Given the description of an element on the screen output the (x, y) to click on. 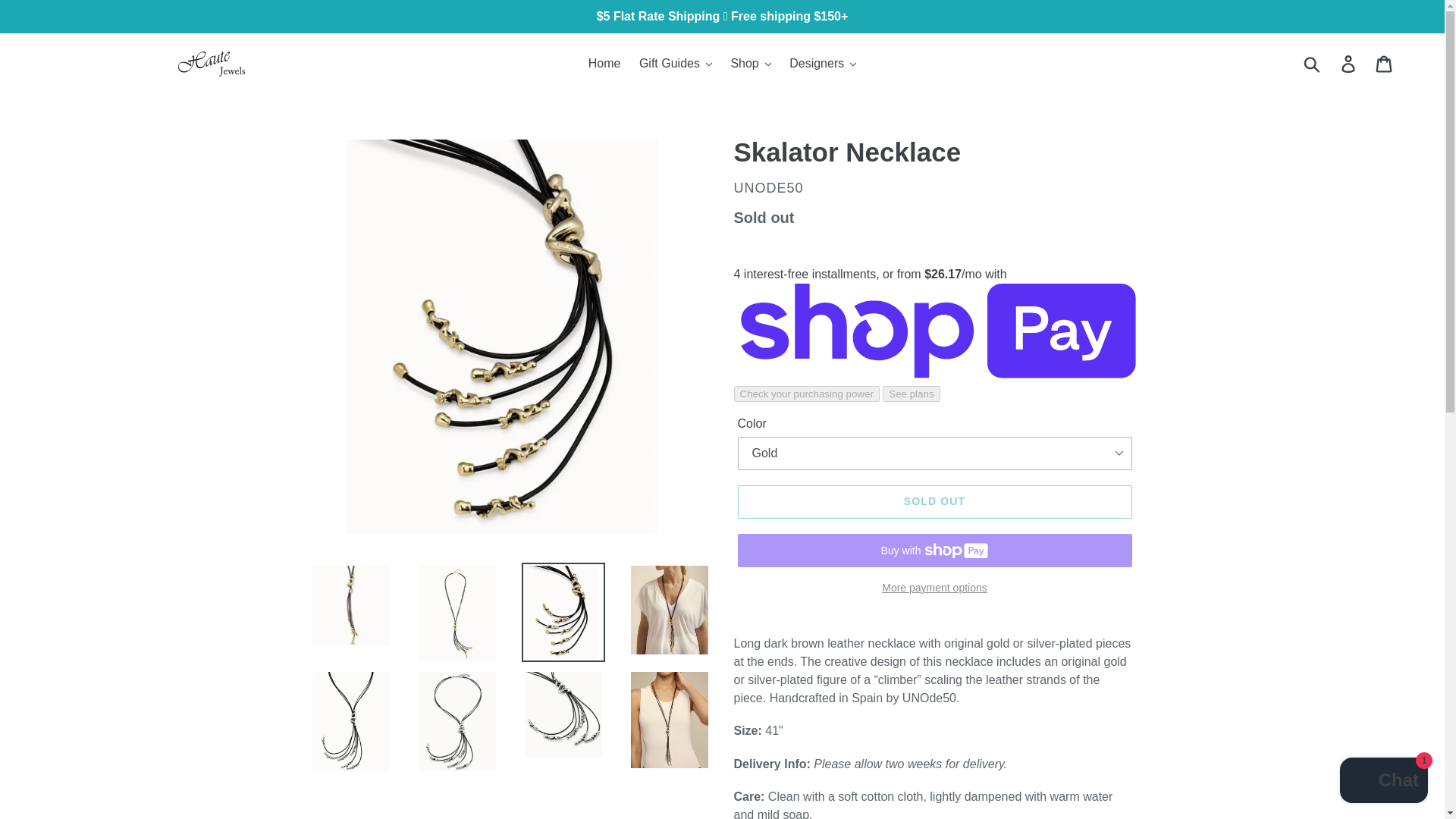
Log in (1349, 63)
Home (604, 63)
Cart (1385, 63)
Submit (1313, 63)
Shopify online store chat (1383, 781)
